Given the description of an element on the screen output the (x, y) to click on. 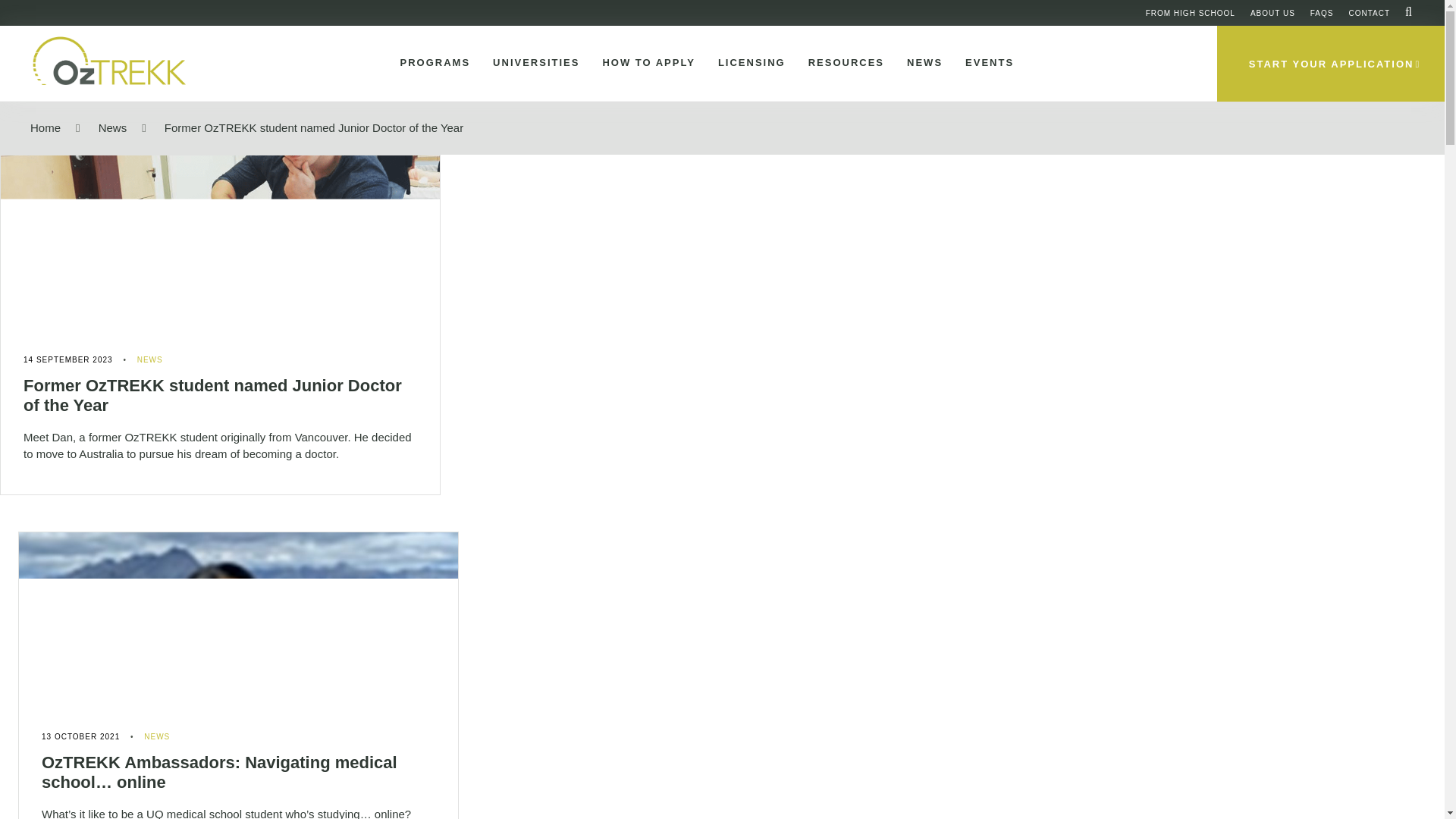
FROM HIGH SCHOOL (1189, 13)
PROGRAMS (432, 63)
ABOUT US (1272, 13)
FAQS (1321, 13)
CONTACT (1369, 13)
